Given the description of an element on the screen output the (x, y) to click on. 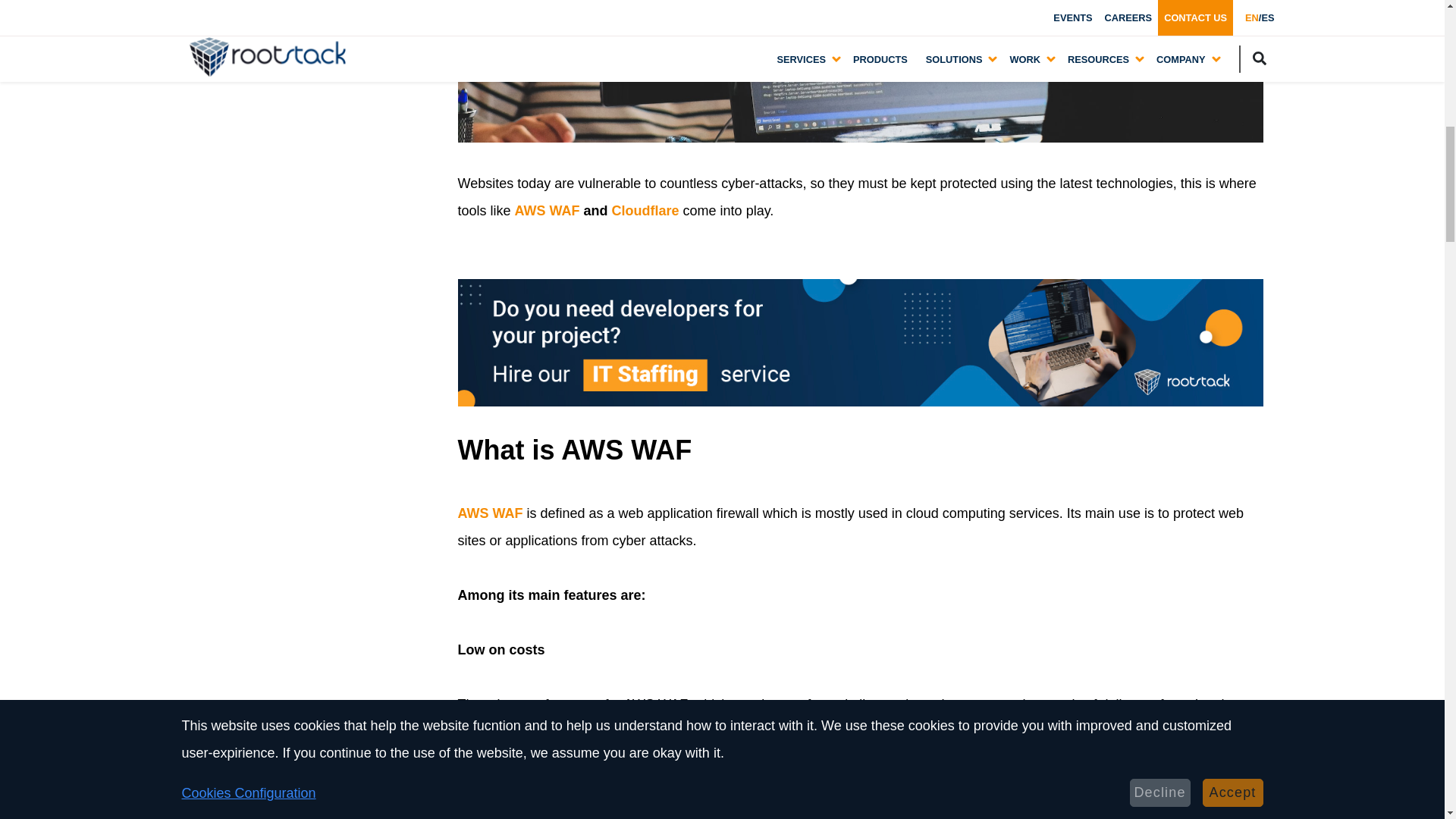
AWS WAF (547, 210)
Different types of architectures in AWS (307, 33)
What is AWS and what are its services? (307, 3)
Cloudflare (645, 210)
AWS WAF (490, 513)
